Given the description of an element on the screen output the (x, y) to click on. 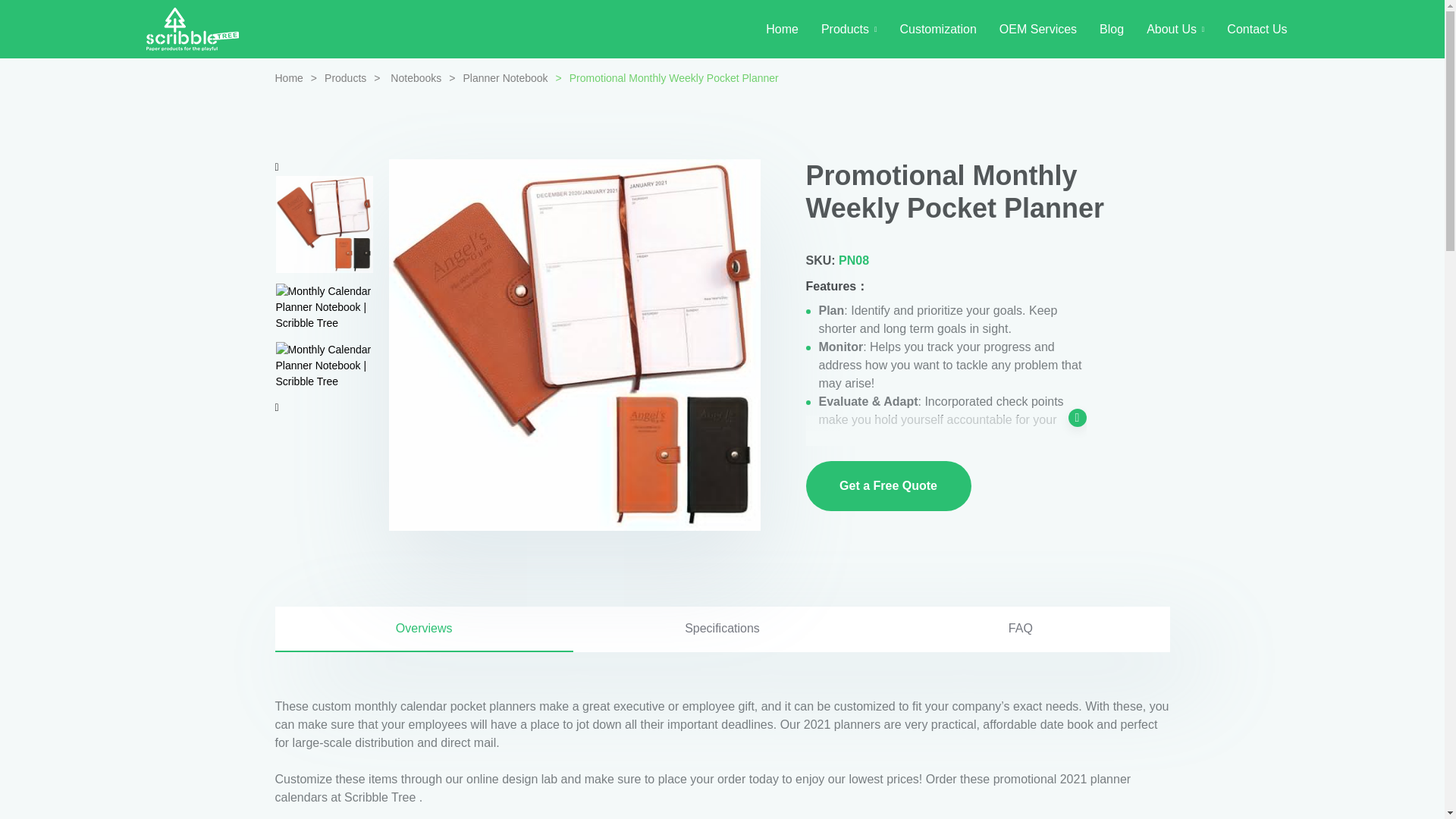
Home (288, 78)
About Us (1175, 28)
Home (781, 28)
Contact Us (1256, 28)
Blog (1111, 28)
Customization (937, 28)
Products (848, 28)
OEM Services (1037, 28)
